Given the description of an element on the screen output the (x, y) to click on. 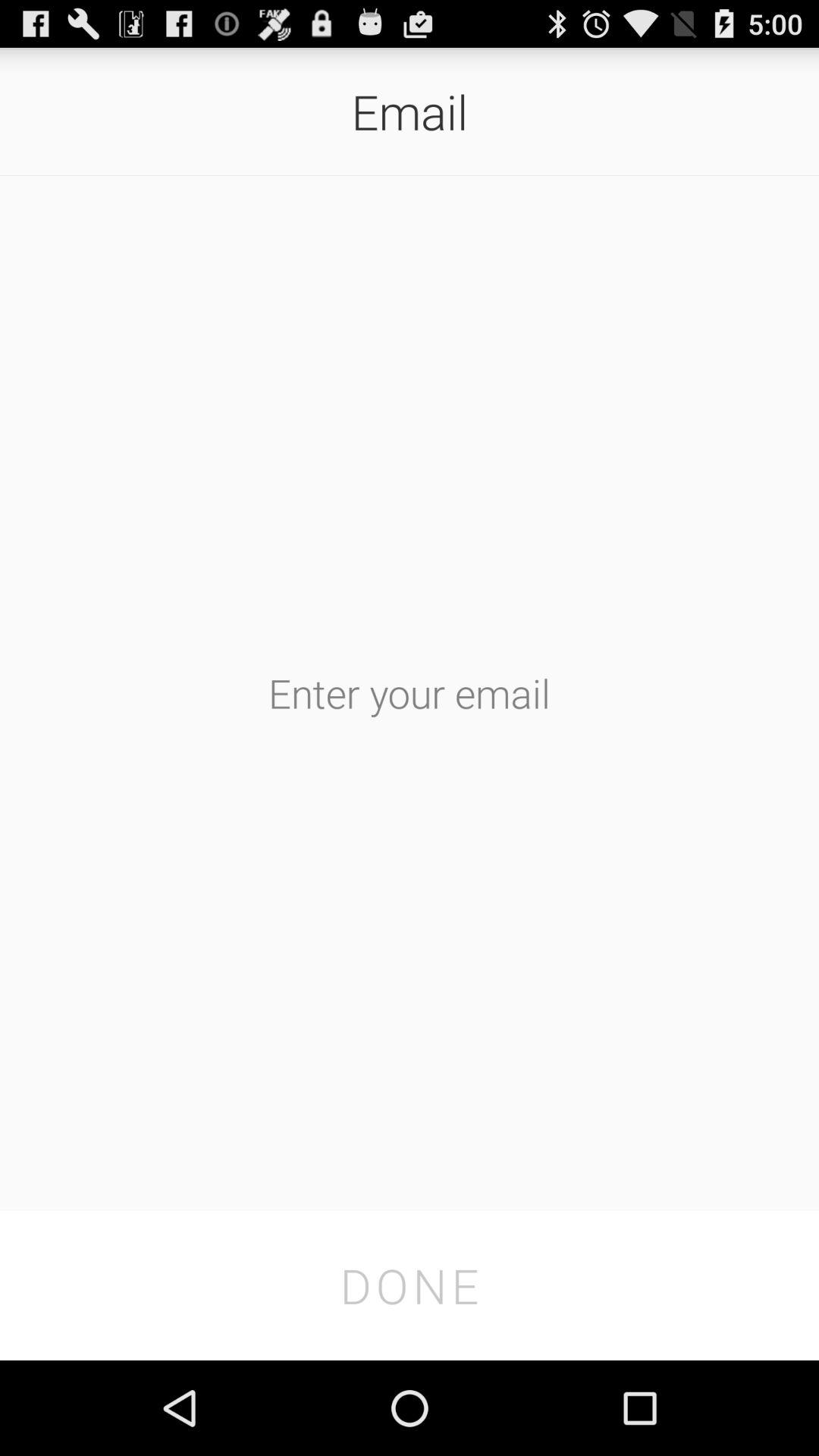
enter your email (409, 692)
